Given the description of an element on the screen output the (x, y) to click on. 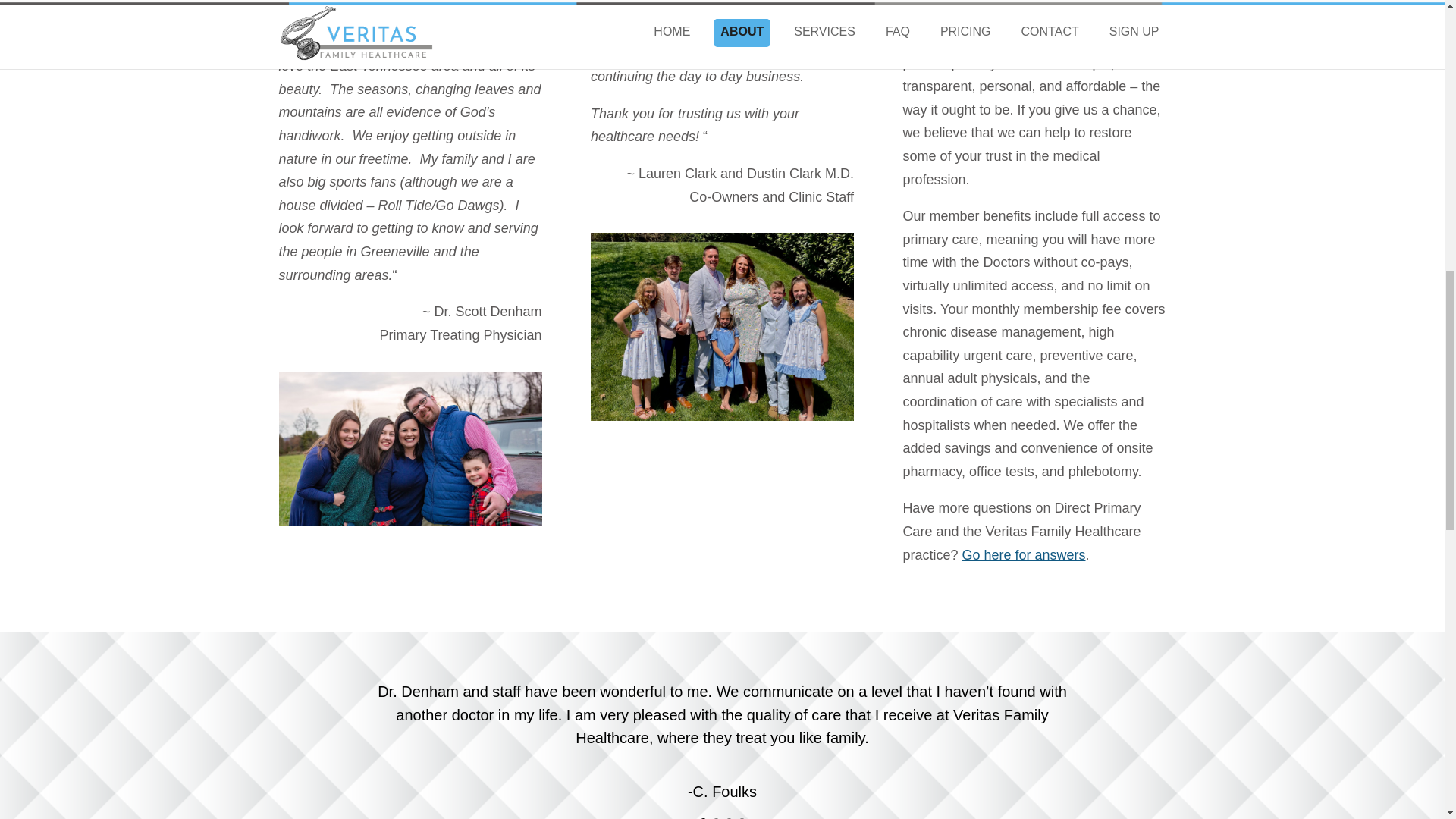
Doctor-Scott-Denham-And-Family (410, 448)
Go here for answers (1022, 554)
Doctor-Dustin-Clark-And-His-Family (722, 326)
